Given the description of an element on the screen output the (x, y) to click on. 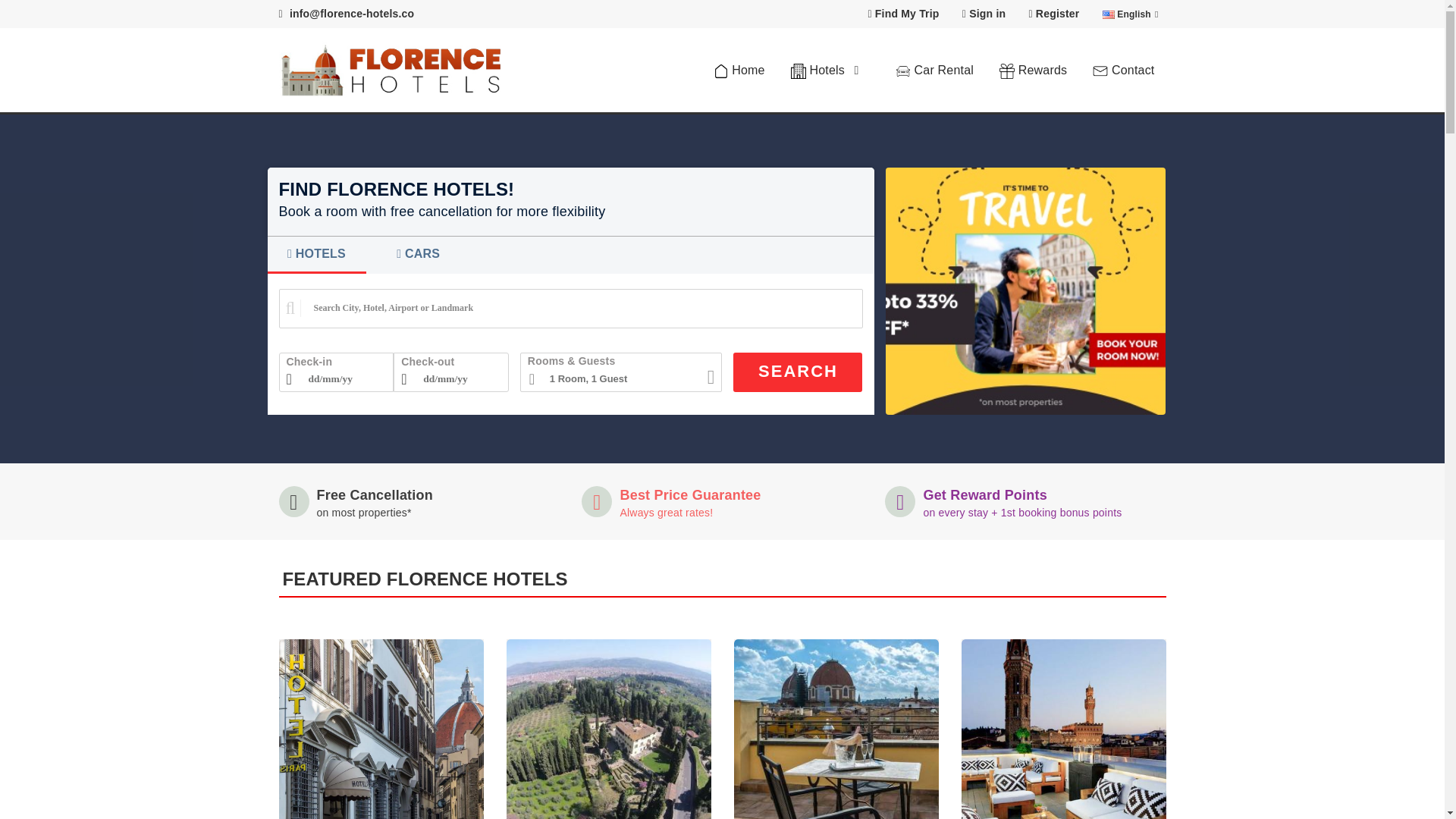
Sign in (984, 13)
Find Hotels (829, 69)
SEARCH (797, 372)
Go to Home Page (738, 69)
Home (738, 69)
Contact (1123, 69)
1 Room, 1 Guest (620, 372)
Rewards (1033, 69)
Travel Rewards (1033, 69)
Hotels (829, 69)
